Given the description of an element on the screen output the (x, y) to click on. 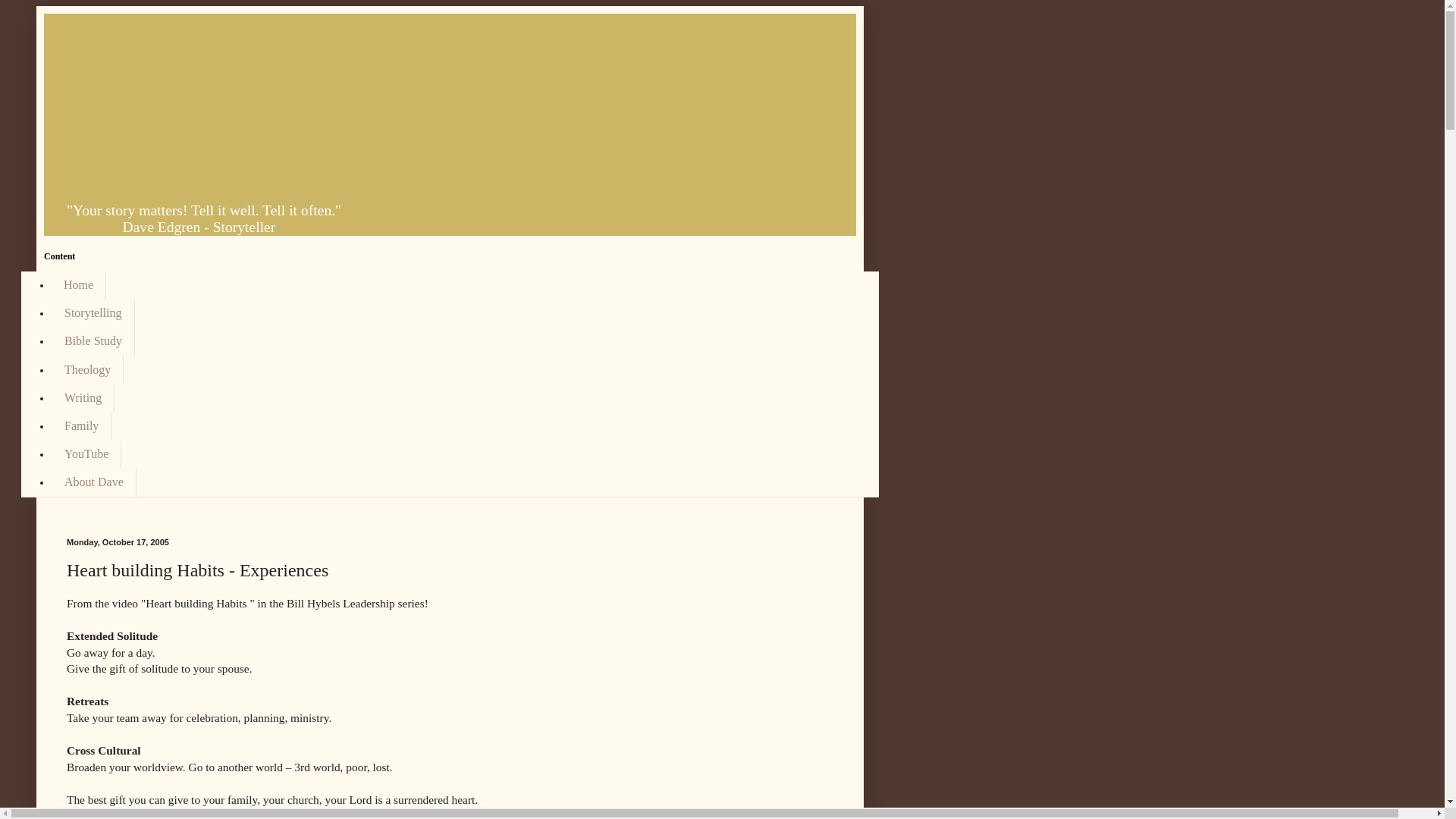
Theology (86, 369)
YouTube (85, 454)
Bible Study (92, 341)
About Dave (93, 482)
Storytelling (92, 313)
Family (81, 425)
Writing (82, 397)
Home (78, 285)
